Given the description of an element on the screen output the (x, y) to click on. 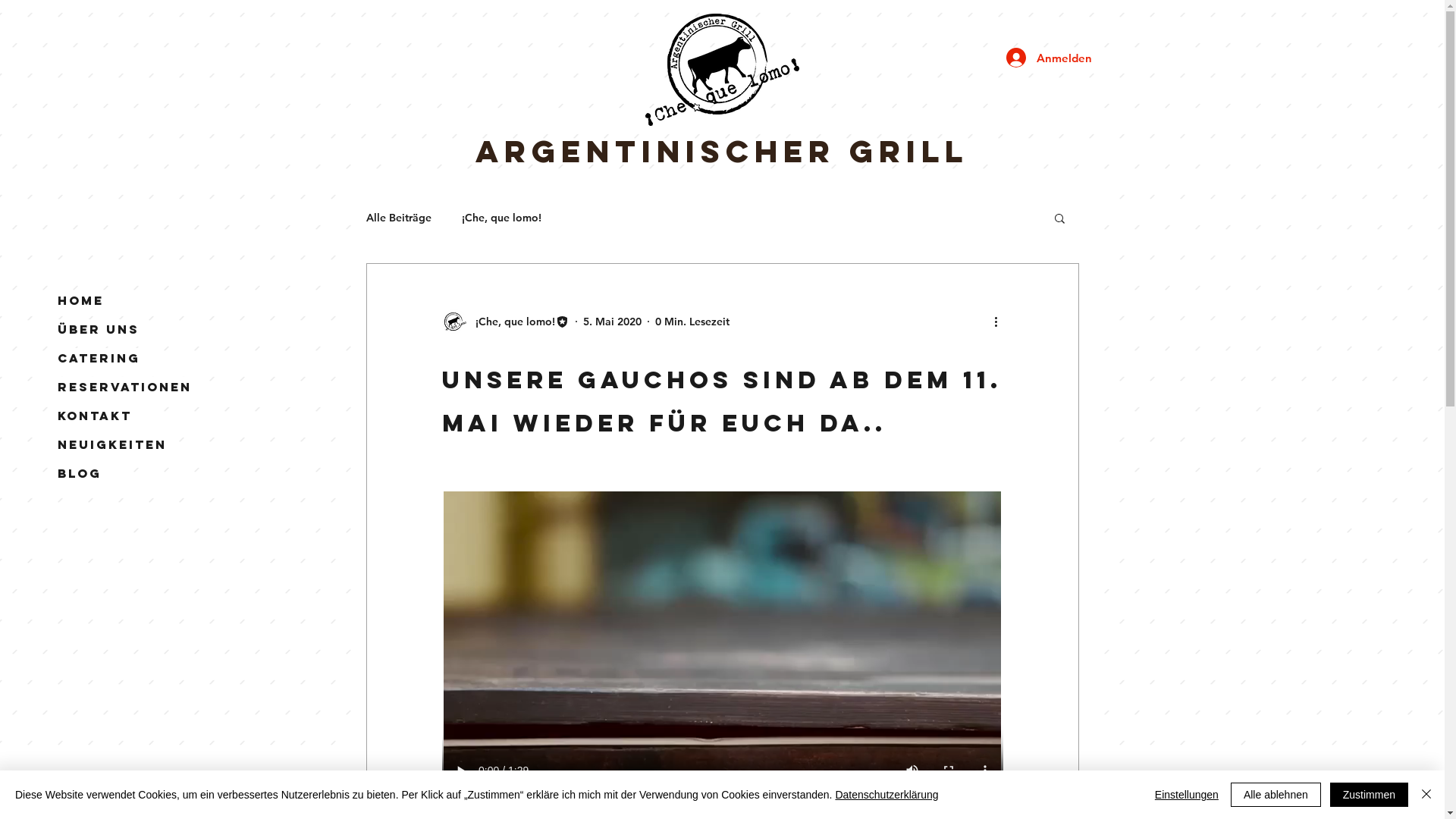
Neuigkeiten Element type: text (112, 443)
Alle ablehnen Element type: text (1275, 794)
Anmelden Element type: text (1039, 57)
Home Element type: text (80, 299)
Blog Element type: text (79, 472)
Catering Element type: text (98, 357)
Kontakt Element type: text (94, 414)
ARGENTINISCHER GRILL Element type: text (721, 150)
Reservationen Element type: text (124, 386)
Zustimmen Element type: text (1369, 794)
